Given the description of an element on the screen output the (x, y) to click on. 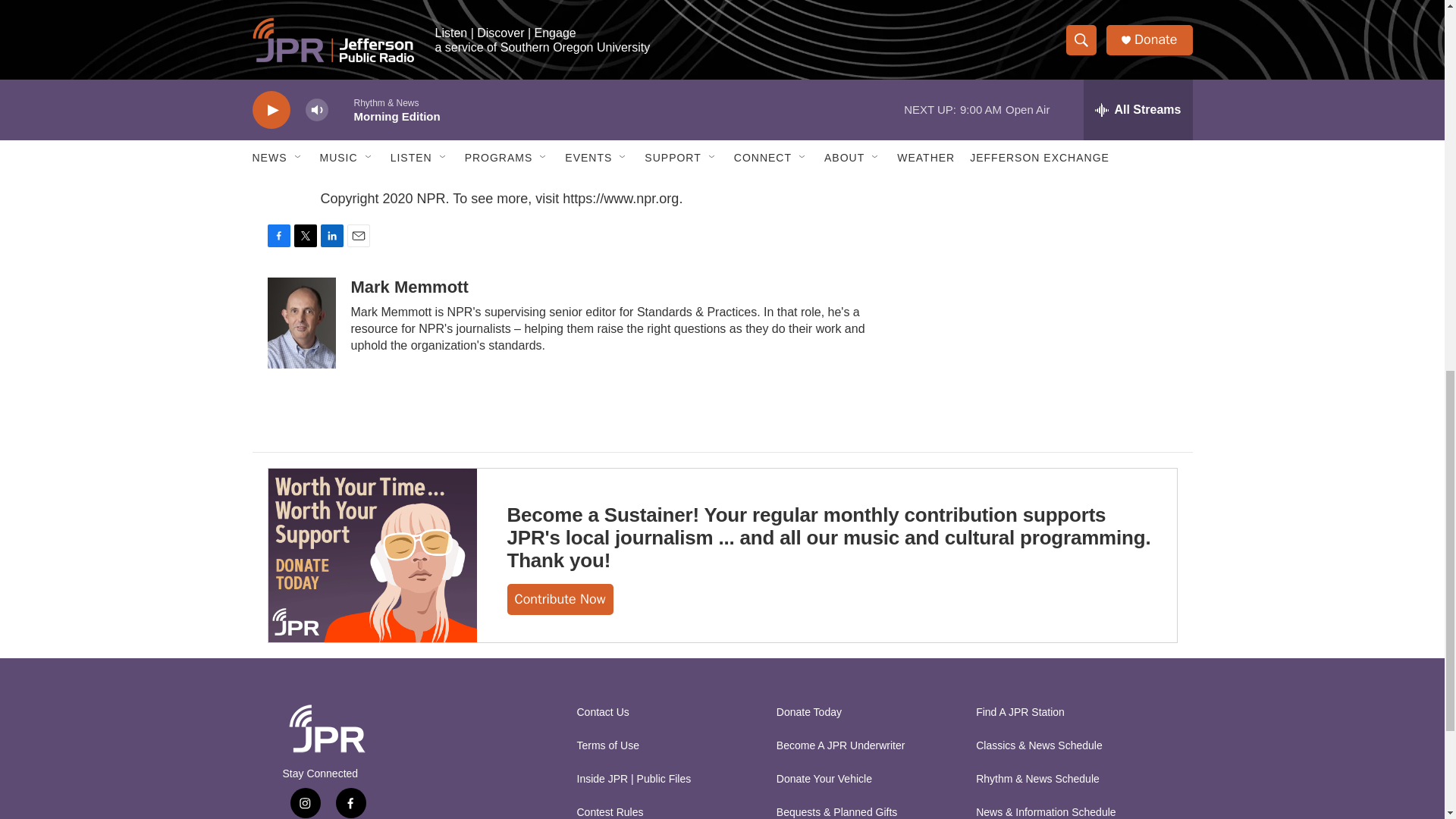
3rd party ad content (1062, 16)
